Given the description of an element on the screen output the (x, y) to click on. 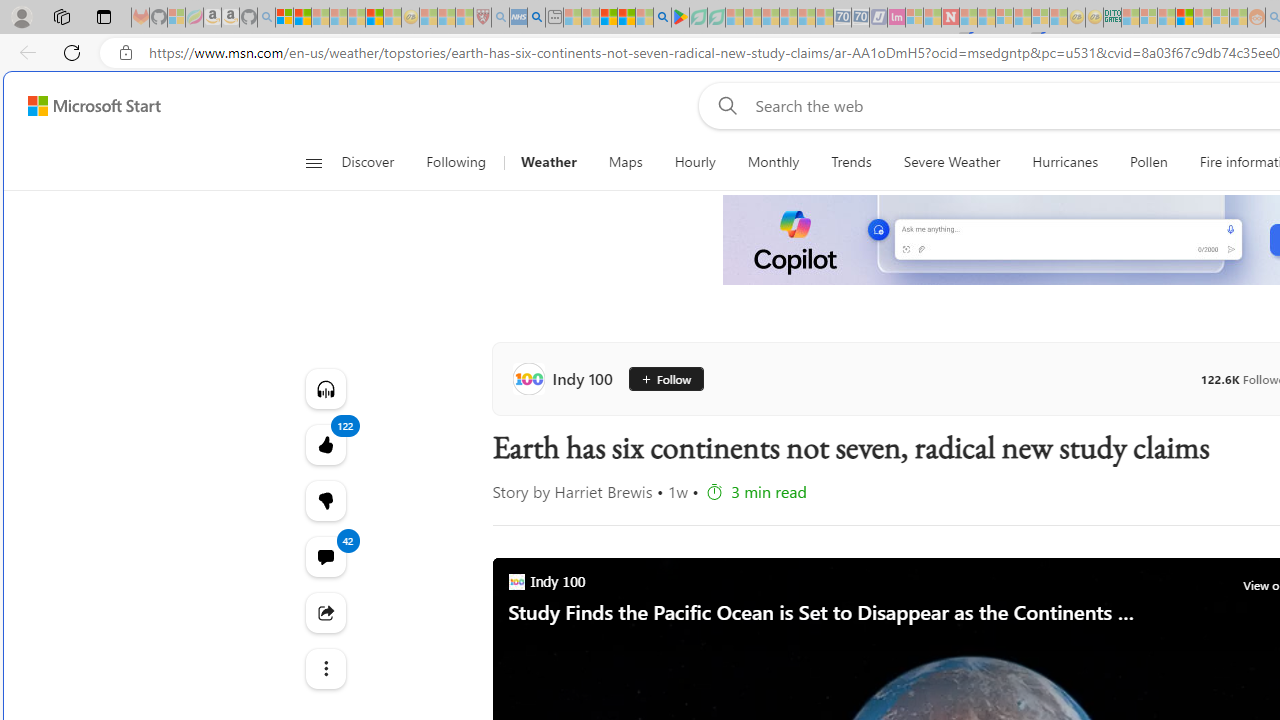
Class: button-glyph (313, 162)
View comments 42 Comment (324, 556)
Latest Politics News & Archive | Newsweek.com - Sleeping (950, 17)
Monthly (773, 162)
